Given the description of an element on the screen output the (x, y) to click on. 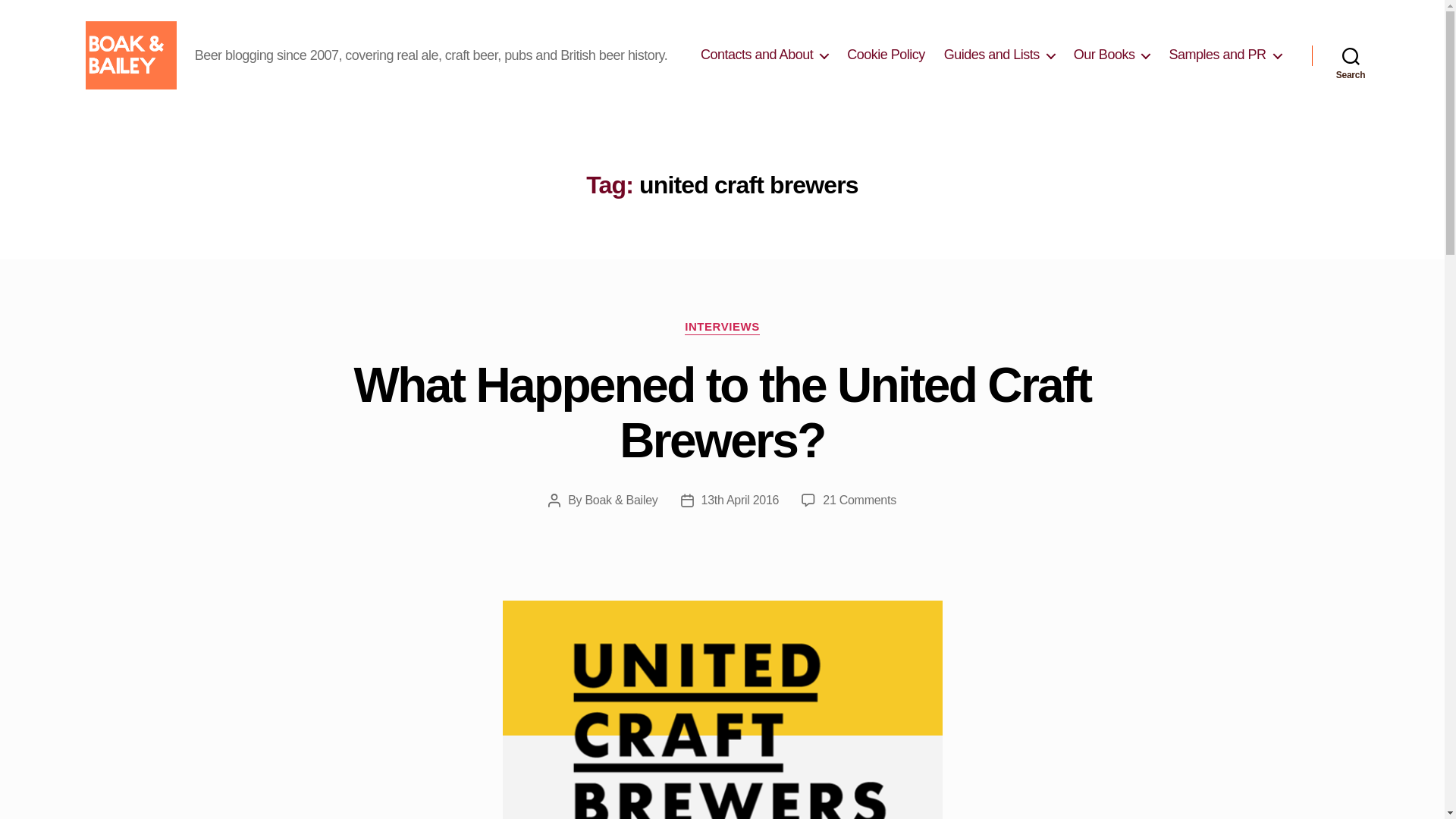
Samples and PR (1225, 54)
Guides and Lists (998, 54)
Contacts and About (764, 54)
Cookie Policy (885, 54)
Search (1350, 55)
Our Books (1112, 54)
